Given the description of an element on the screen output the (x, y) to click on. 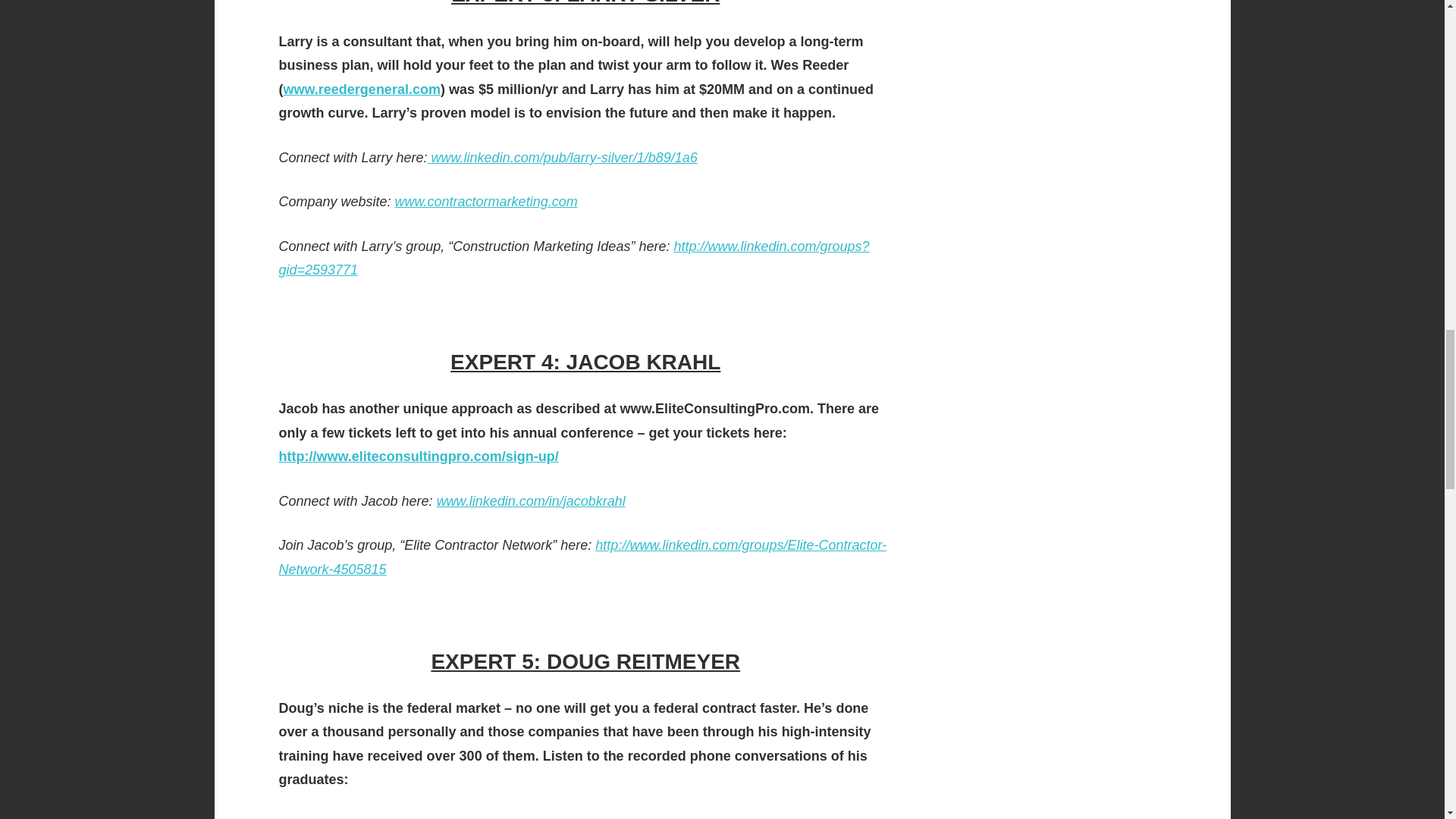
www.reedergeneral.com (362, 89)
www.contractormarketing.com (486, 201)
